Given the description of an element on the screen output the (x, y) to click on. 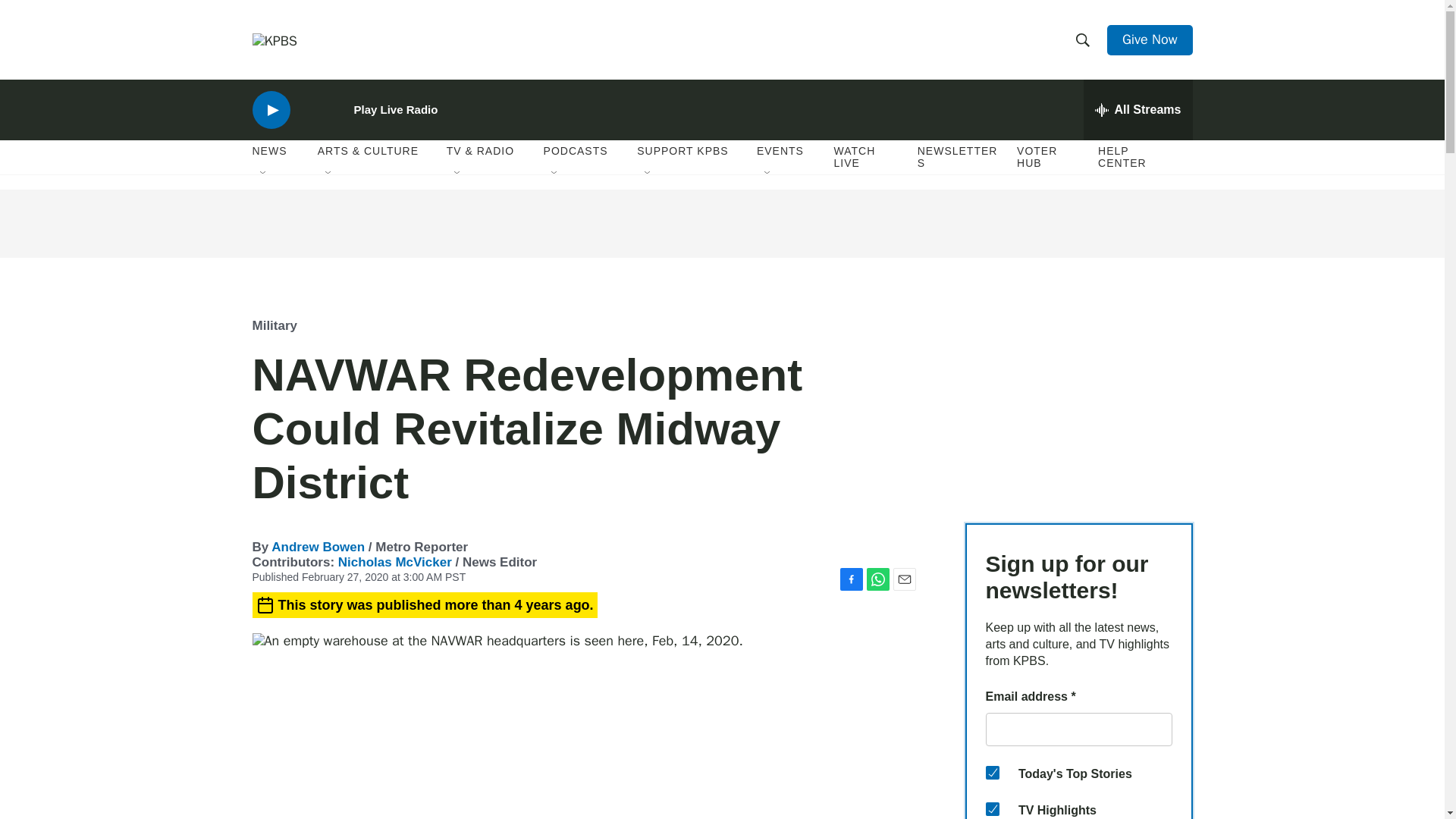
4 (991, 772)
5 (991, 808)
